Given the description of an element on the screen output the (x, y) to click on. 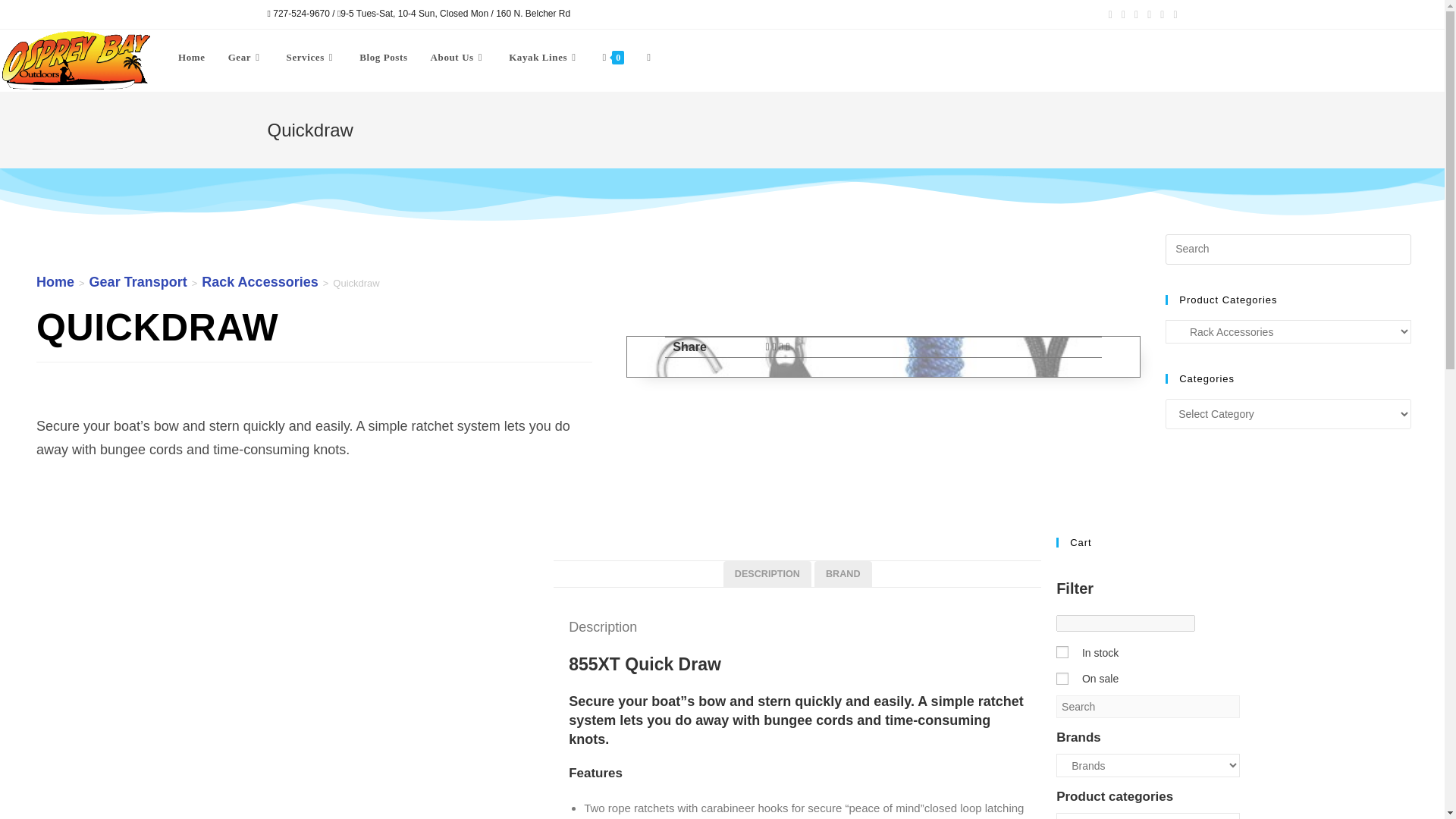
Services (312, 57)
Home (191, 57)
Blog Posts (383, 57)
Gear (245, 57)
0 (1062, 678)
About Us (458, 57)
0 (1062, 652)
Kayak Lines (544, 57)
